Given the description of an element on the screen output the (x, y) to click on. 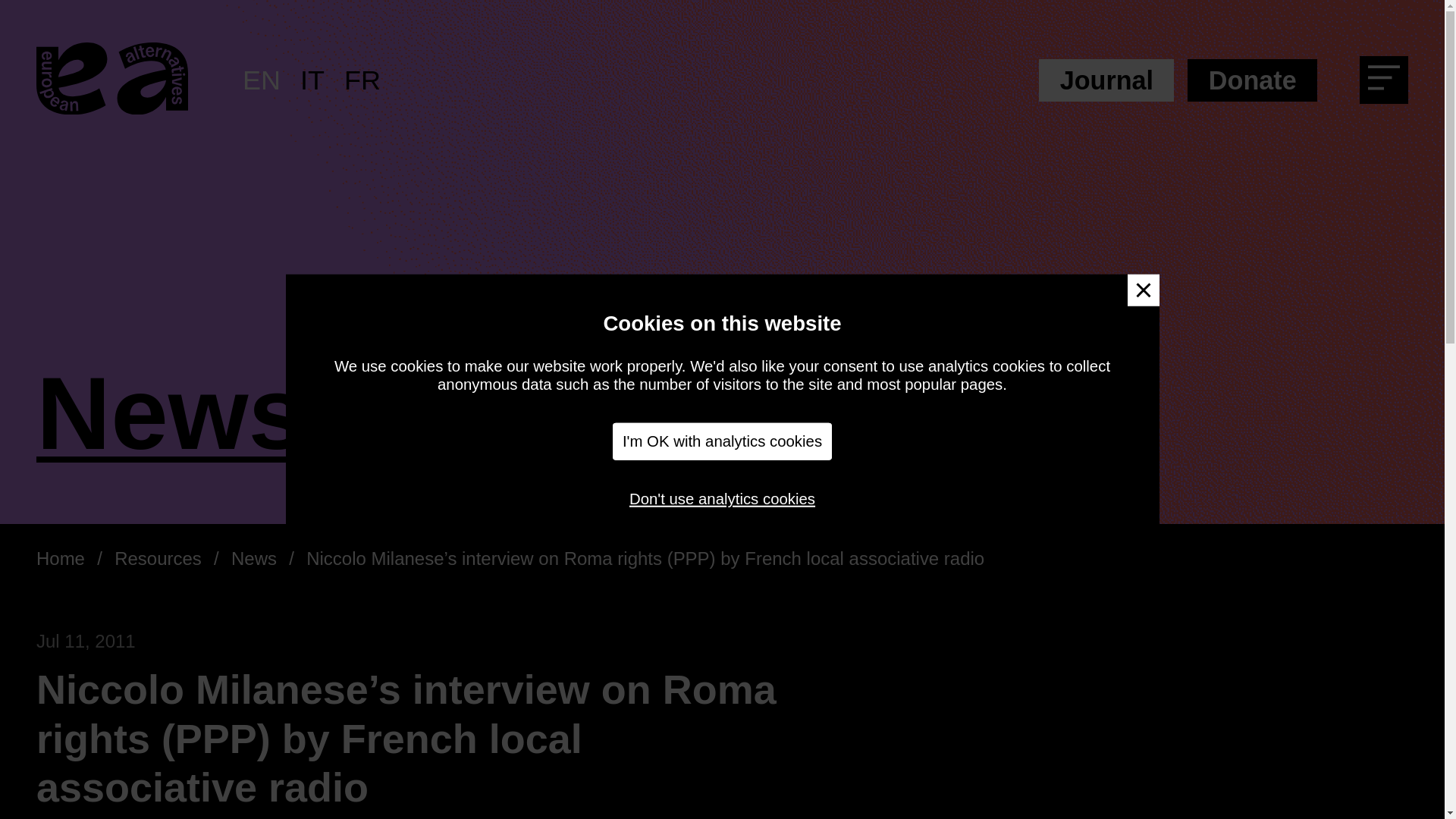
Don't use analytics cookies (721, 498)
Donate (1252, 79)
Menu (1389, 82)
EN (262, 79)
Go to the European Alternatives home page (111, 79)
Journal (1106, 79)
FR (361, 79)
EN (262, 79)
I'm OK with analytics cookies (722, 441)
Dismiss message (1142, 290)
FR (361, 79)
